Given the description of an element on the screen output the (x, y) to click on. 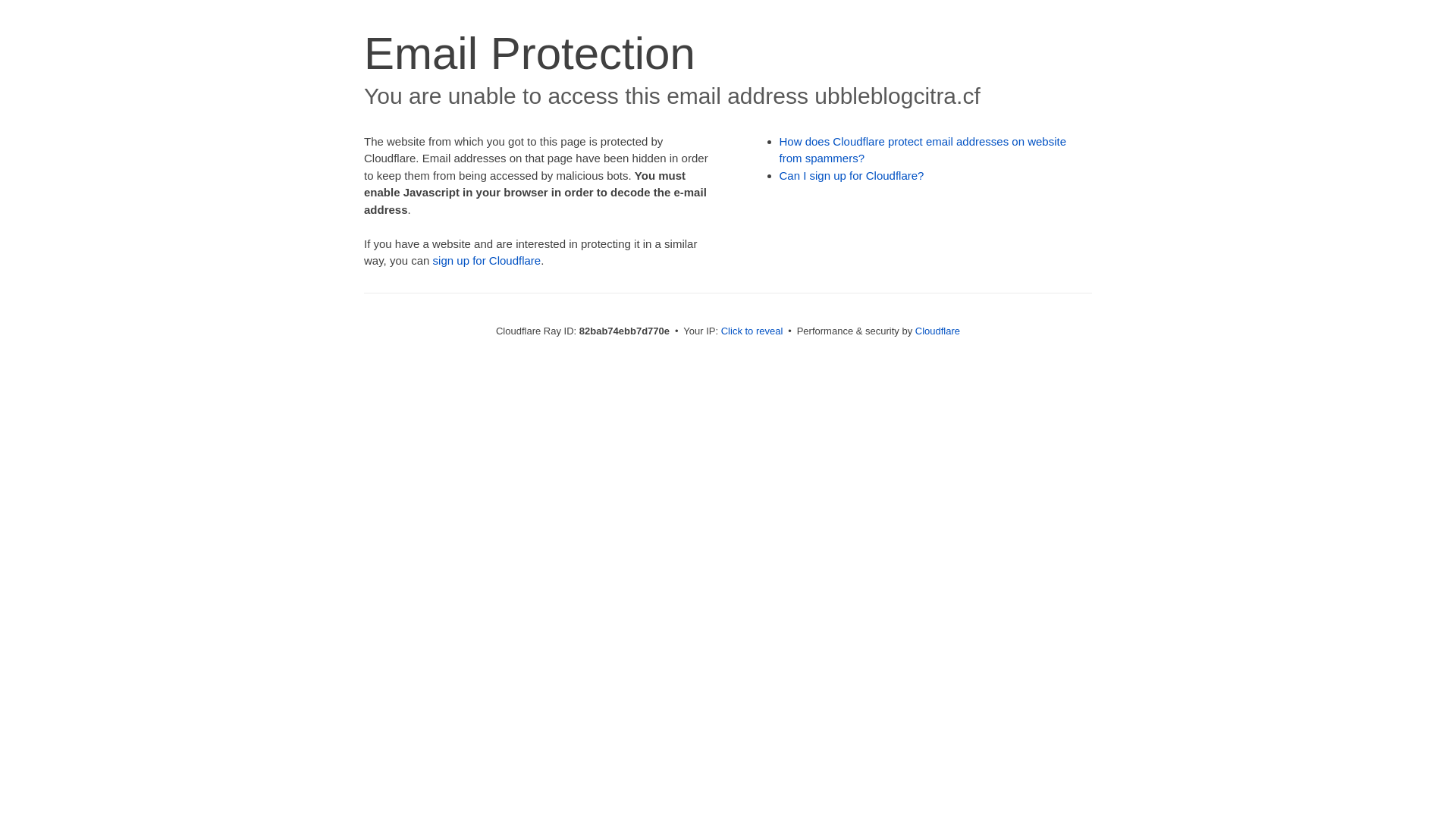
Cloudflare Element type: text (937, 330)
Can I sign up for Cloudflare? Element type: text (851, 175)
sign up for Cloudflare Element type: text (487, 260)
Click to reveal Element type: text (752, 330)
